Given the description of an element on the screen output the (x, y) to click on. 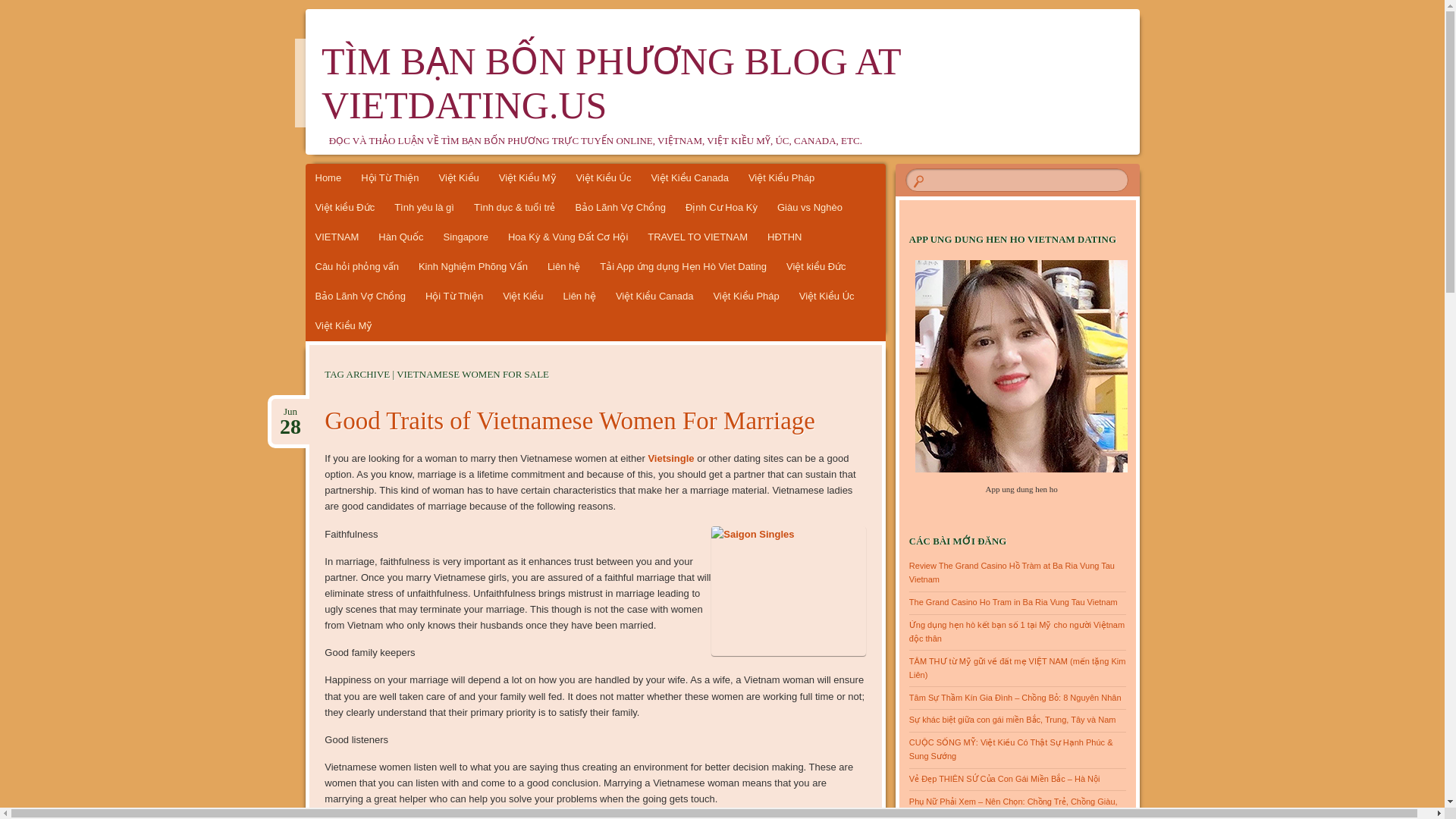
Vietsingle (670, 458)
Home (327, 178)
Saigon Singles (289, 411)
Permalink to Good Traits of Vietnamese Women For Marriage (788, 591)
Singapore (569, 420)
VIETNAM (465, 237)
Good Traits of Vietnamese Women For Marriage (336, 237)
TRAVEL TO VIETNAM (569, 420)
June 28, 2012 (697, 237)
